Given the description of an element on the screen output the (x, y) to click on. 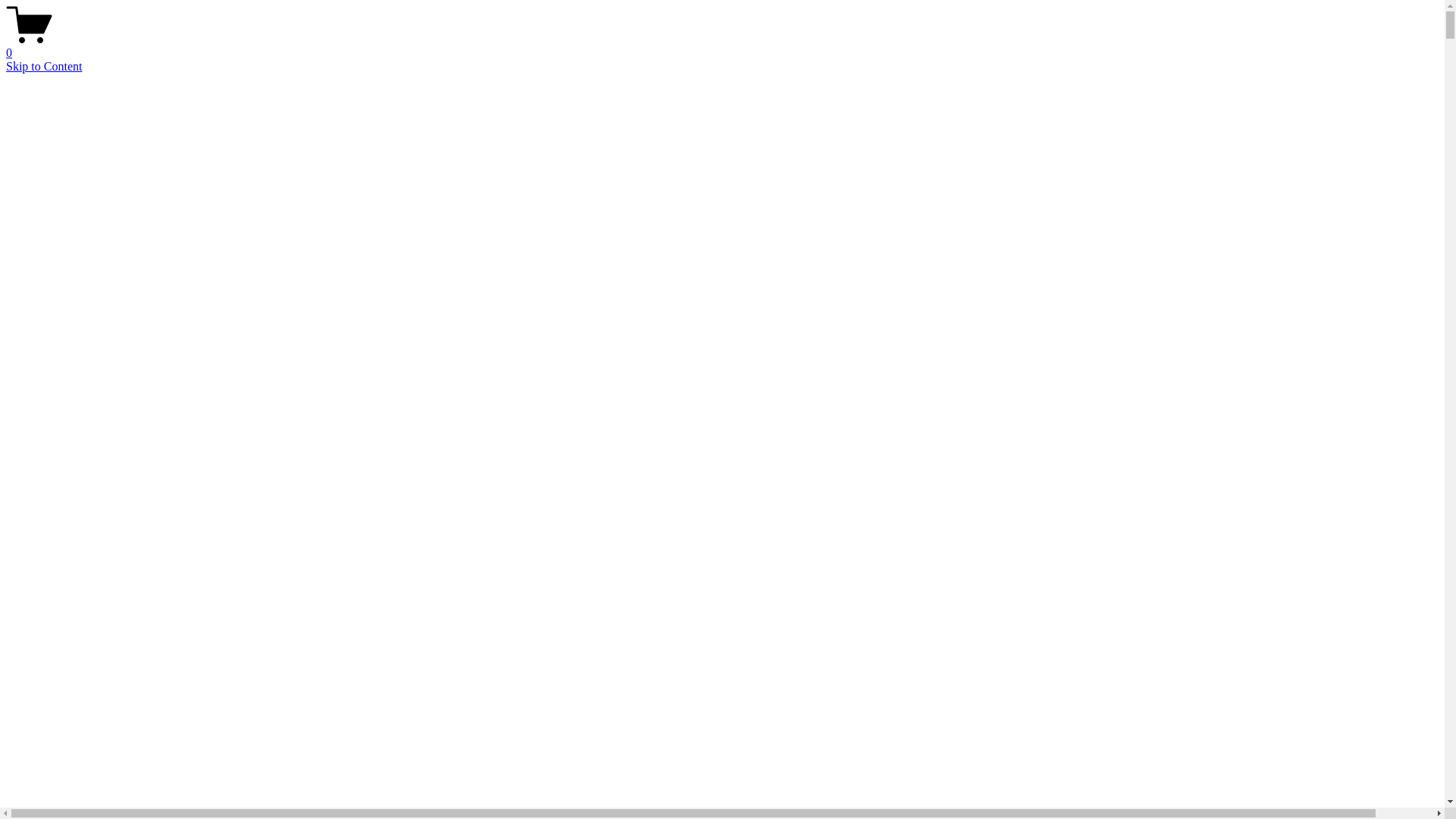
0 Element type: text (722, 45)
Skip to Content Element type: text (43, 65)
